Given the description of an element on the screen output the (x, y) to click on. 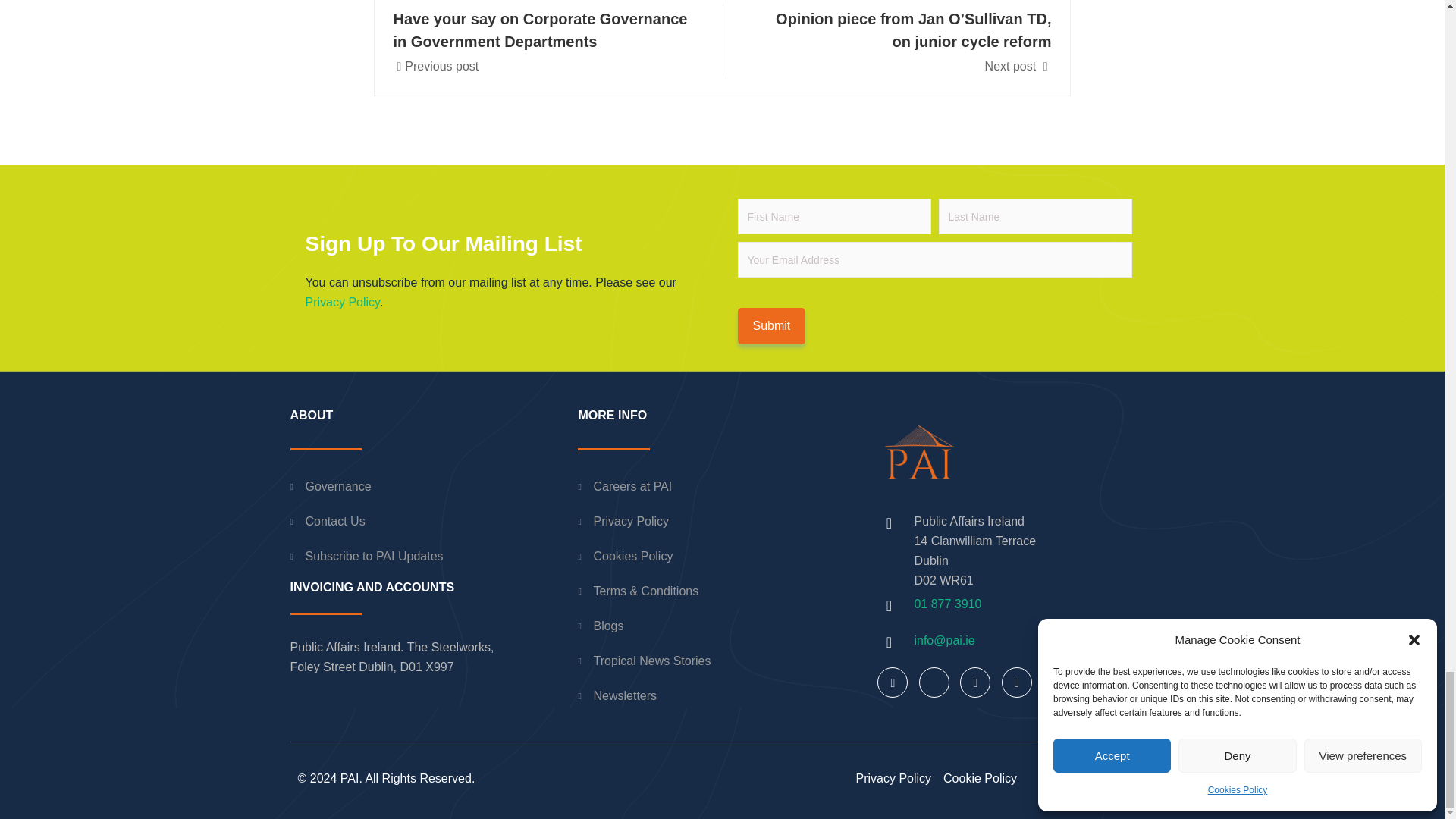
Submit (933, 271)
